Given the description of an element on the screen output the (x, y) to click on. 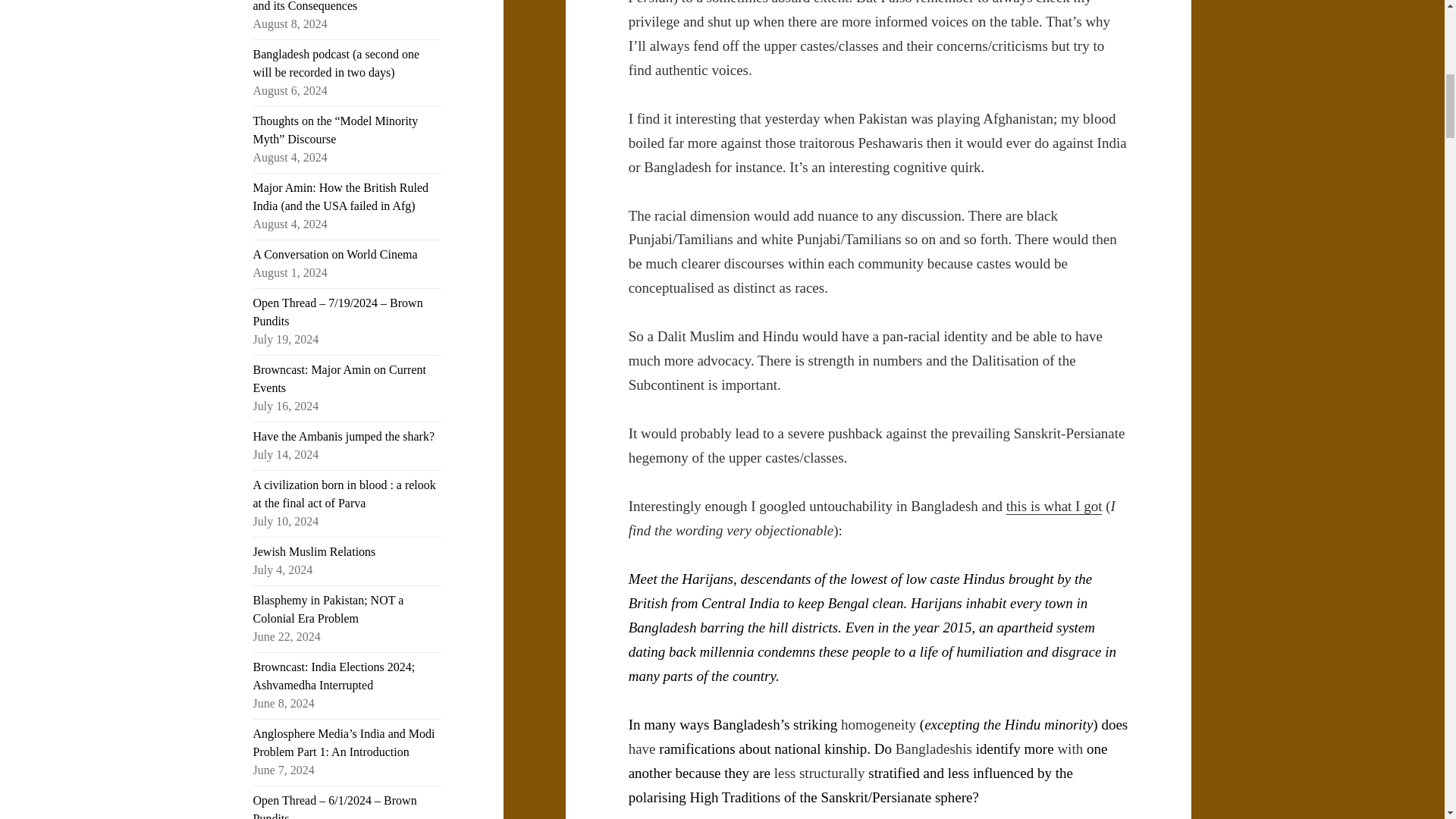
A Conversation on World Cinema (335, 254)
Blasphemy in Pakistan; NOT a Colonial Era Problem (328, 608)
Have the Ambanis jumped the shark? (344, 436)
Jewish Muslim Relations (314, 551)
Browncast: Major Amin on Current Events (339, 378)
Browncast: India Elections 2024; Ashvamedha Interrupted (333, 675)
